Given the description of an element on the screen output the (x, y) to click on. 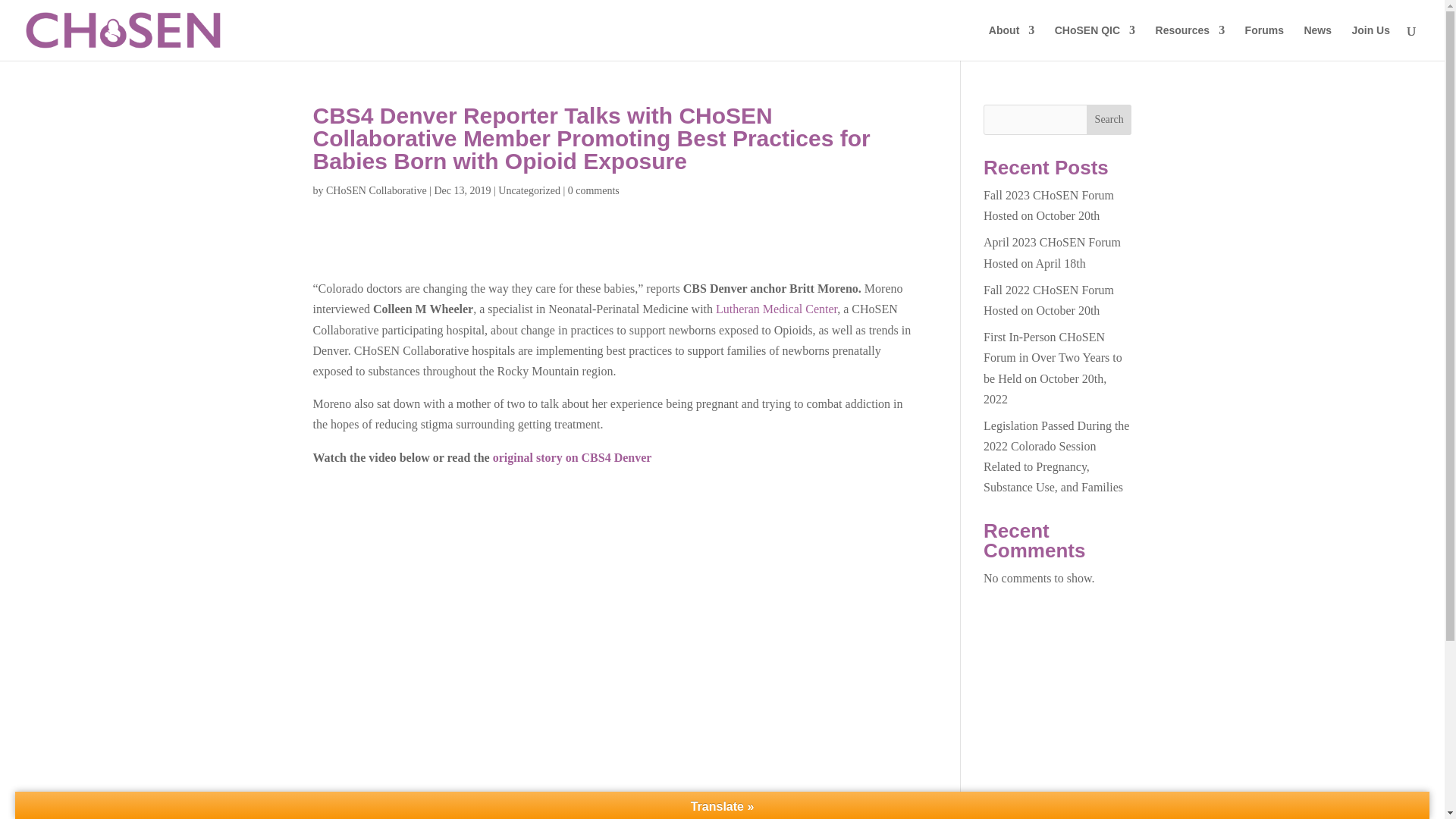
Forums (1264, 42)
CHoSEN Collaborative (376, 190)
Search (1109, 119)
Fall 2023 CHoSEN Forum Hosted on October 20th (1048, 205)
Join Us (1370, 42)
Lutheran Medical Center (776, 308)
About (1010, 42)
Resources (1190, 42)
Uncategorized (528, 190)
